Given the description of an element on the screen output the (x, y) to click on. 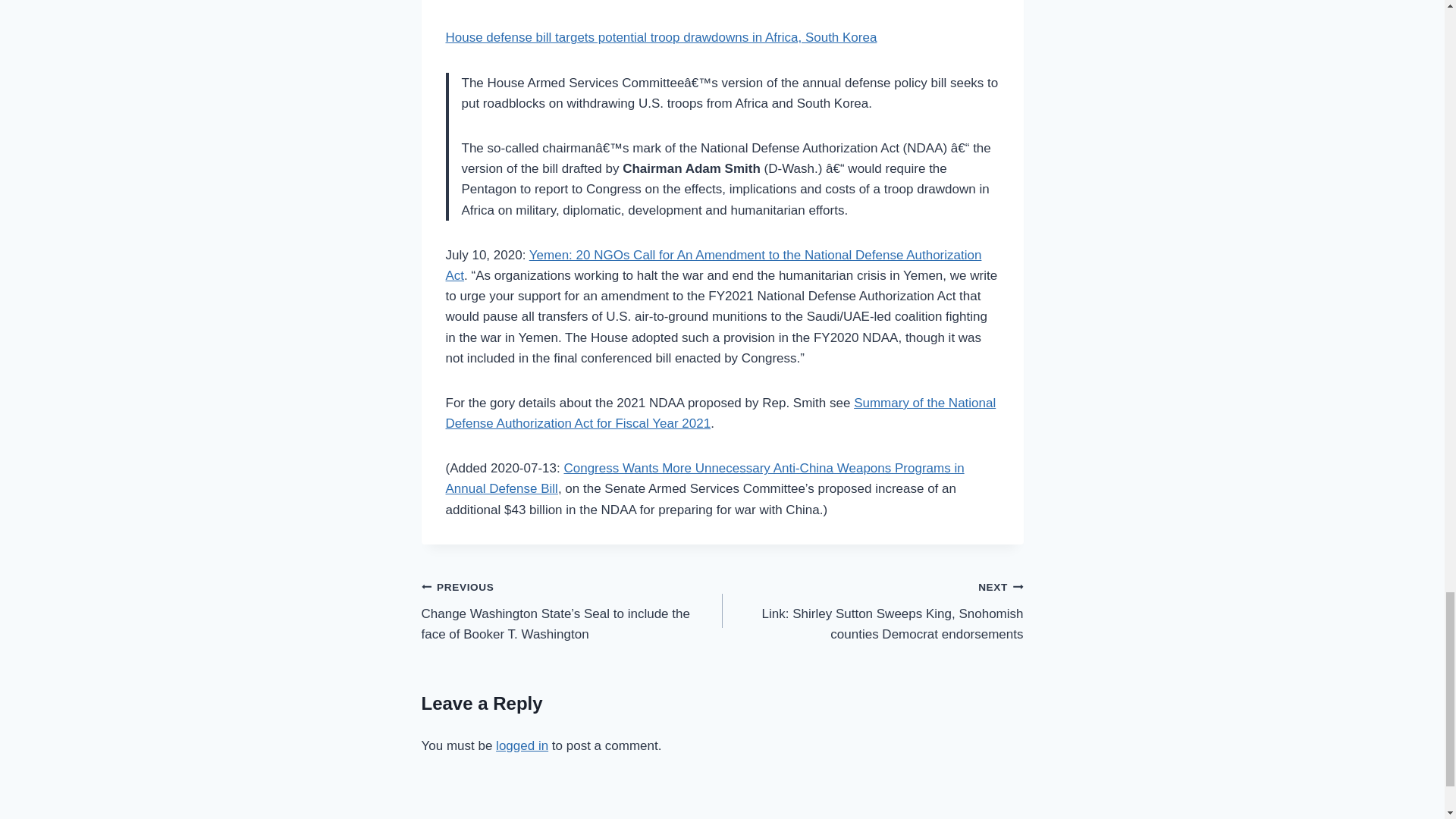
logged in (522, 745)
